Given the description of an element on the screen output the (x, y) to click on. 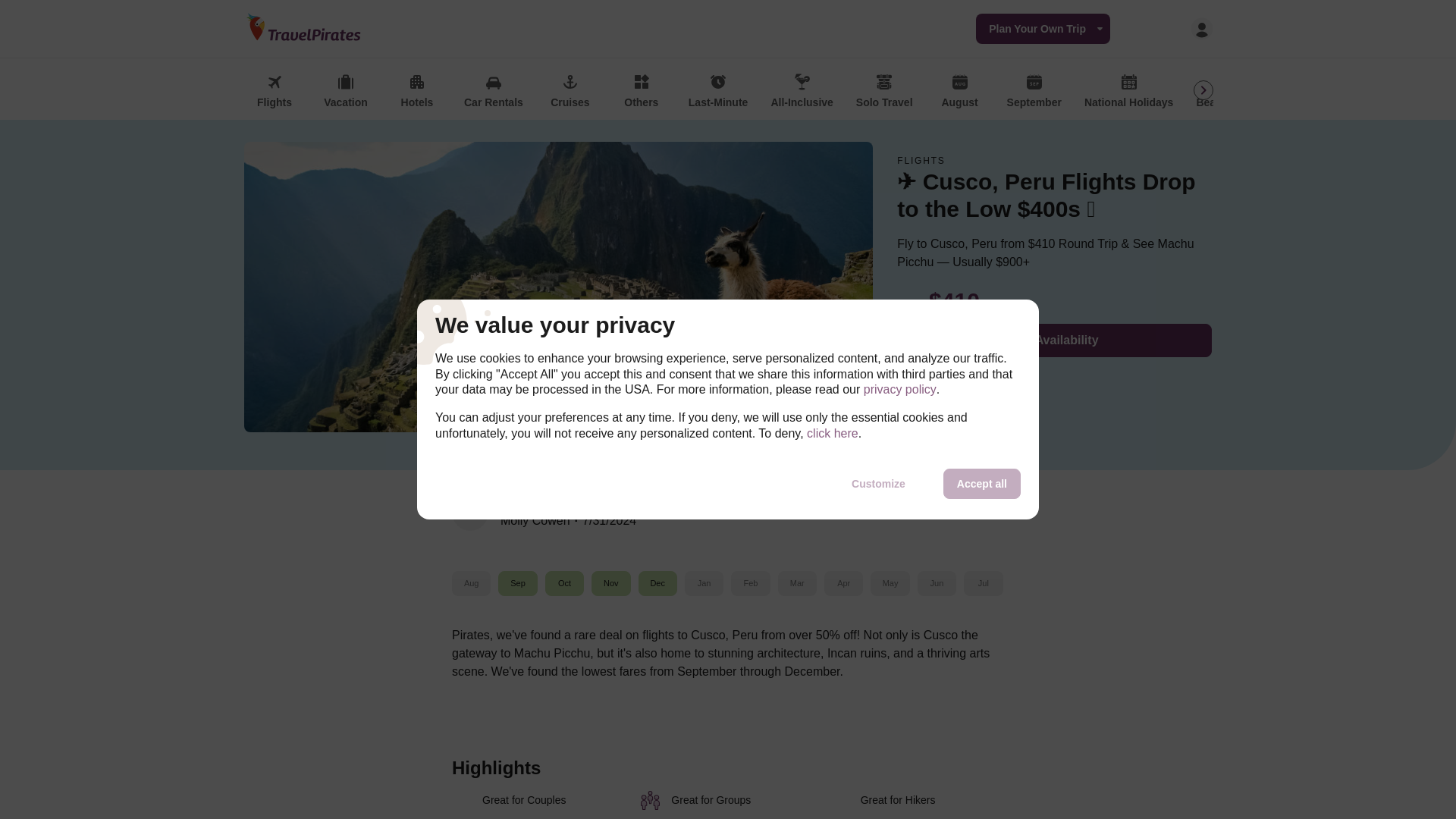
Cruises (570, 91)
Others (641, 91)
Accept all (981, 483)
Plan Your Own Trip (1042, 28)
click here (832, 433)
All-Inclusive (801, 91)
Vacation (345, 91)
TravelPirates (307, 28)
Beach Vacations (1237, 91)
Check Availability (1053, 340)
